Given the description of an element on the screen output the (x, y) to click on. 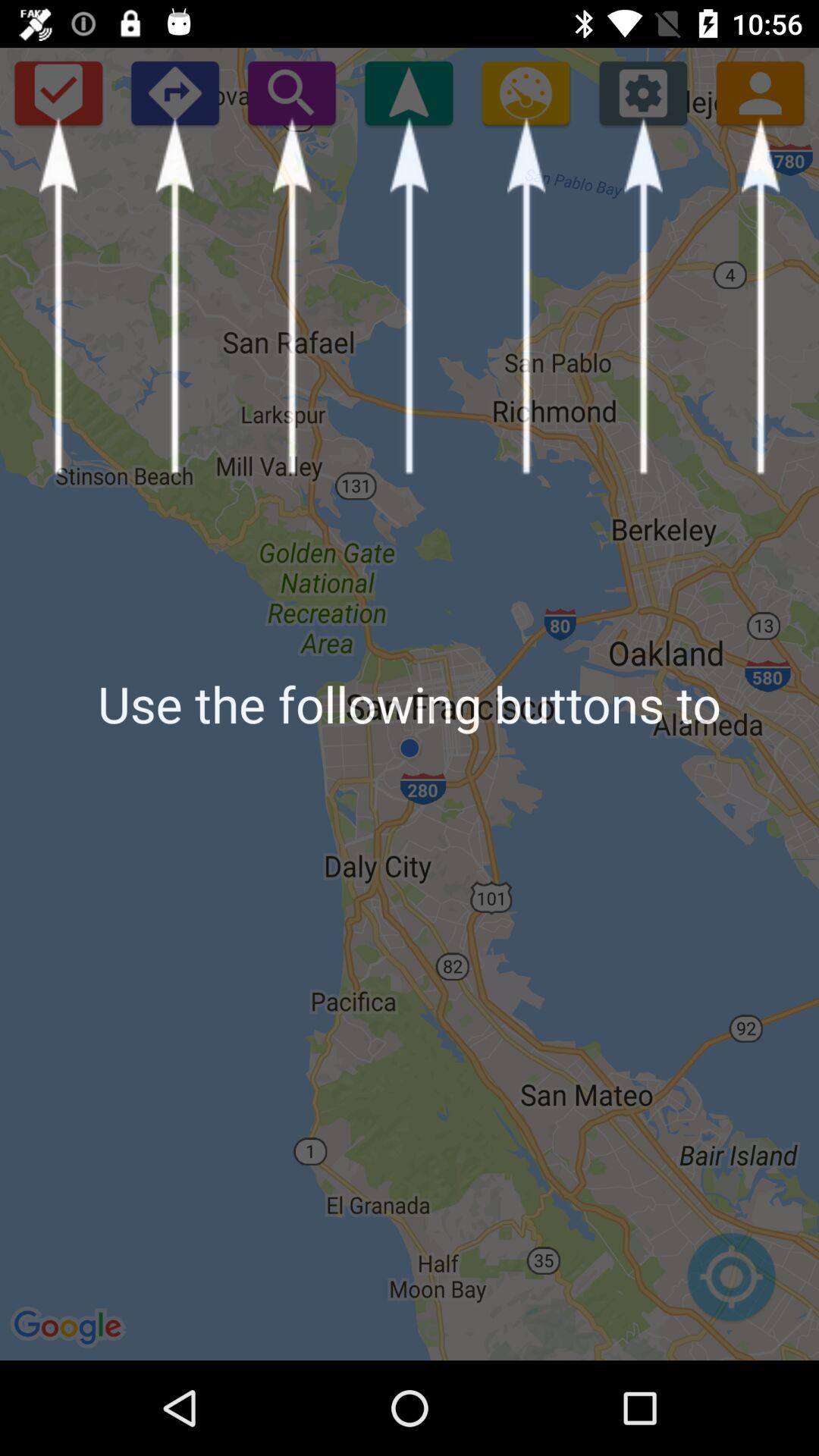
turn on the app above the use the following (291, 92)
